Given the description of an element on the screen output the (x, y) to click on. 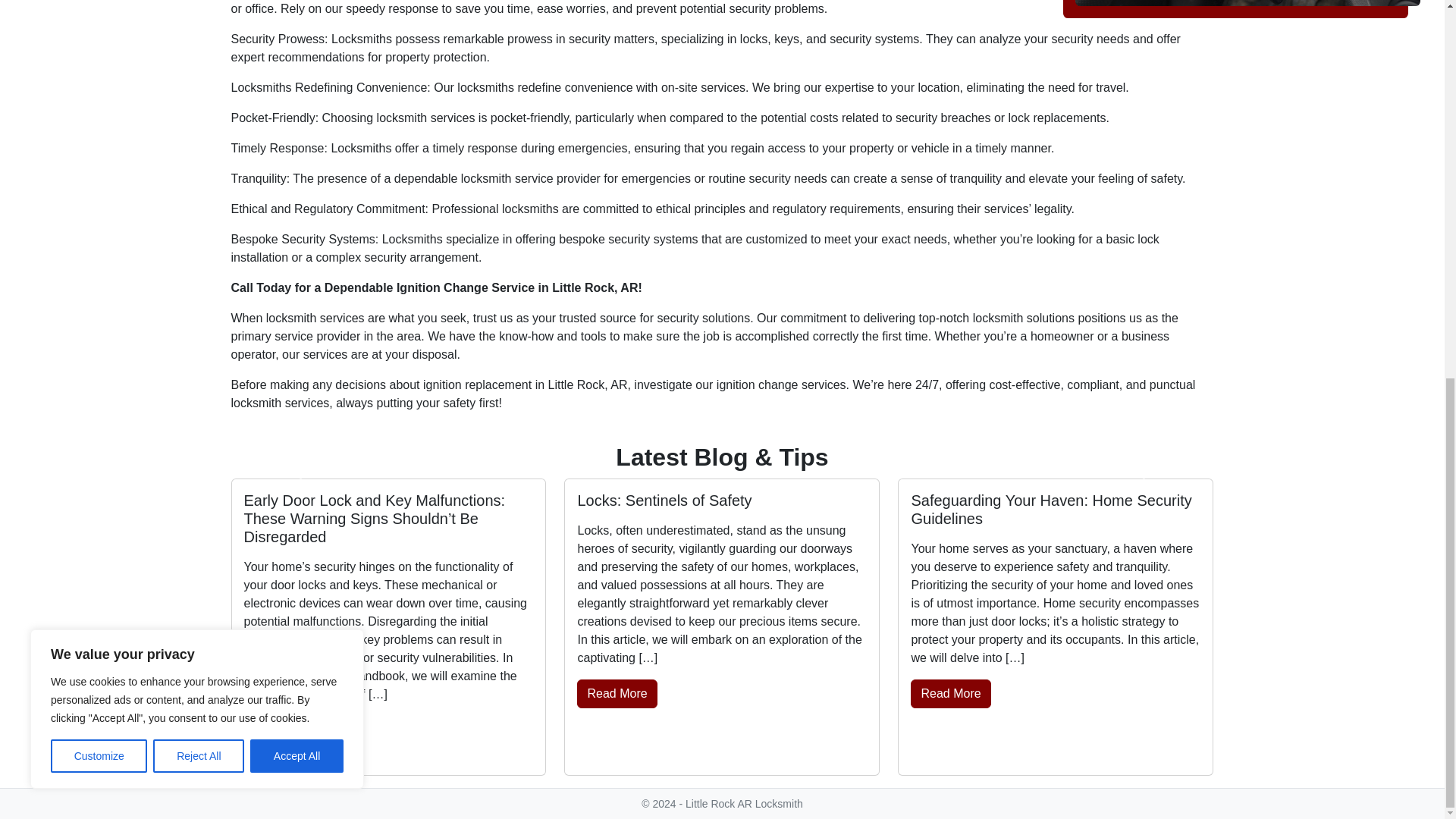
Reject All (198, 56)
Accept All (296, 56)
Customize (98, 56)
